Given the description of an element on the screen output the (x, y) to click on. 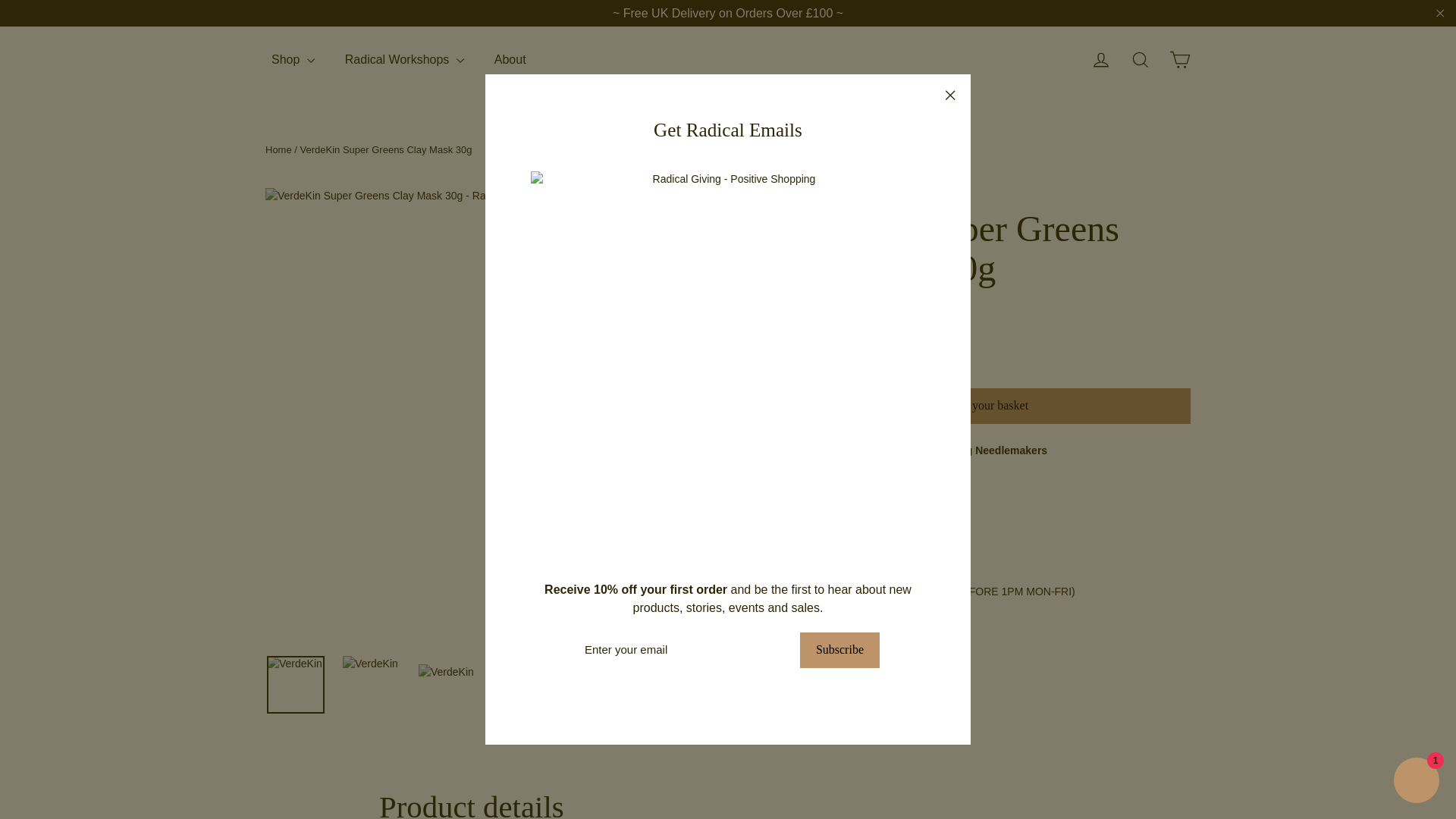
Share on Facebook (801, 662)
Shopify online store chat (1416, 781)
Back to the frontpage (278, 149)
Verdekin (791, 194)
Pin on Pinterest (869, 662)
